Given the description of an element on the screen output the (x, y) to click on. 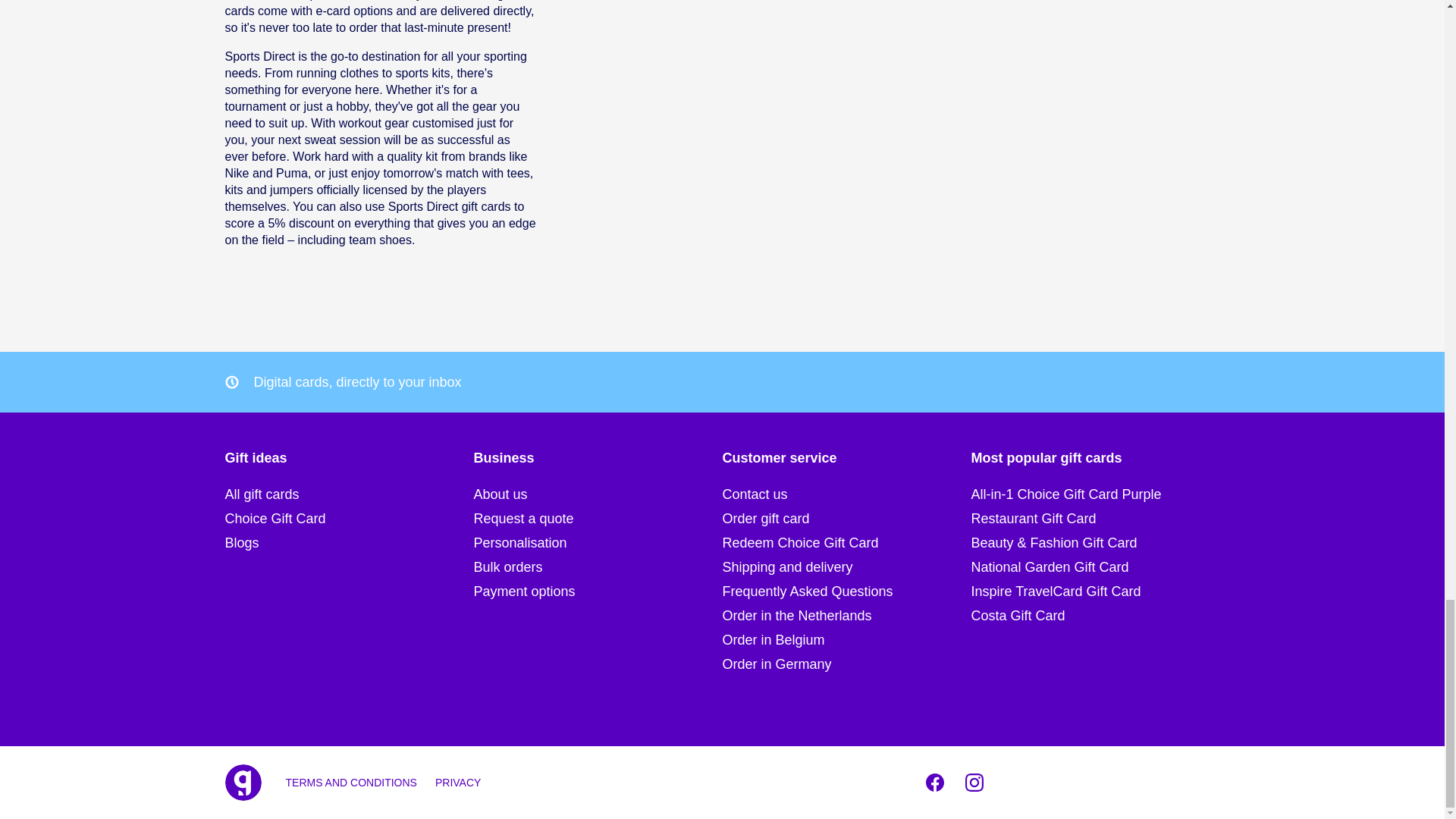
Blogs (348, 542)
Frequently Asked Questions (846, 591)
Shipping and delivery (846, 566)
Personalisation (597, 542)
Order gift card (846, 518)
Bulk orders (597, 566)
Contact us (846, 494)
National Garden Gift Card (1095, 566)
Order in Belgium (846, 639)
Order in the Netherlands (846, 615)
Inspire TravelCard Gift Card (1095, 591)
About us (597, 494)
All gift cards (348, 494)
Restaurant Gift Card (1095, 518)
Redeem Choice Gift Card (846, 542)
